Given the description of an element on the screen output the (x, y) to click on. 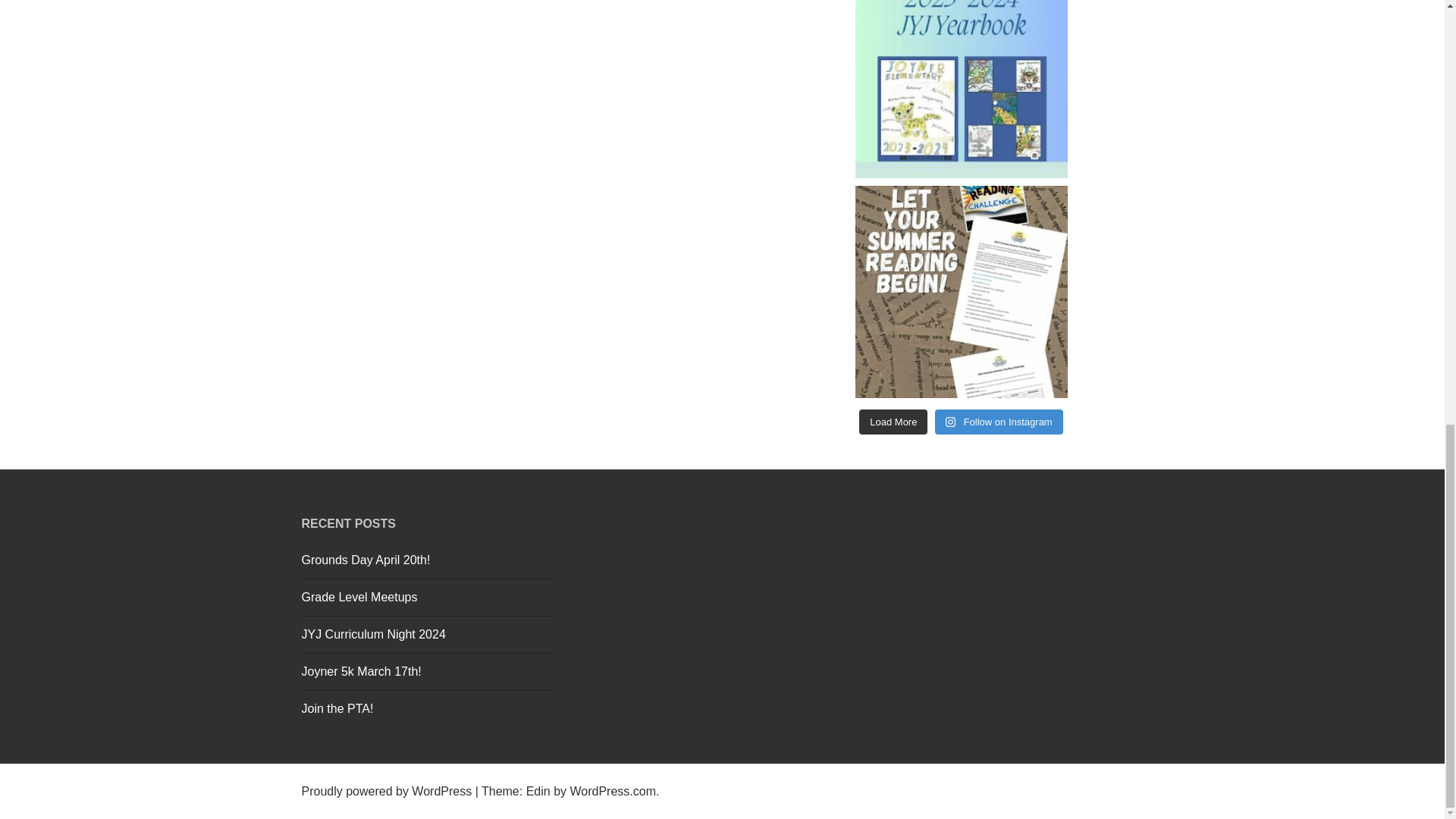
JYJ Curriculum Night 2024 (373, 634)
Load More (893, 421)
Follow on Instagram (998, 421)
Grounds Day April 20th! (365, 559)
Grade Level Meetups (359, 596)
